Given the description of an element on the screen output the (x, y) to click on. 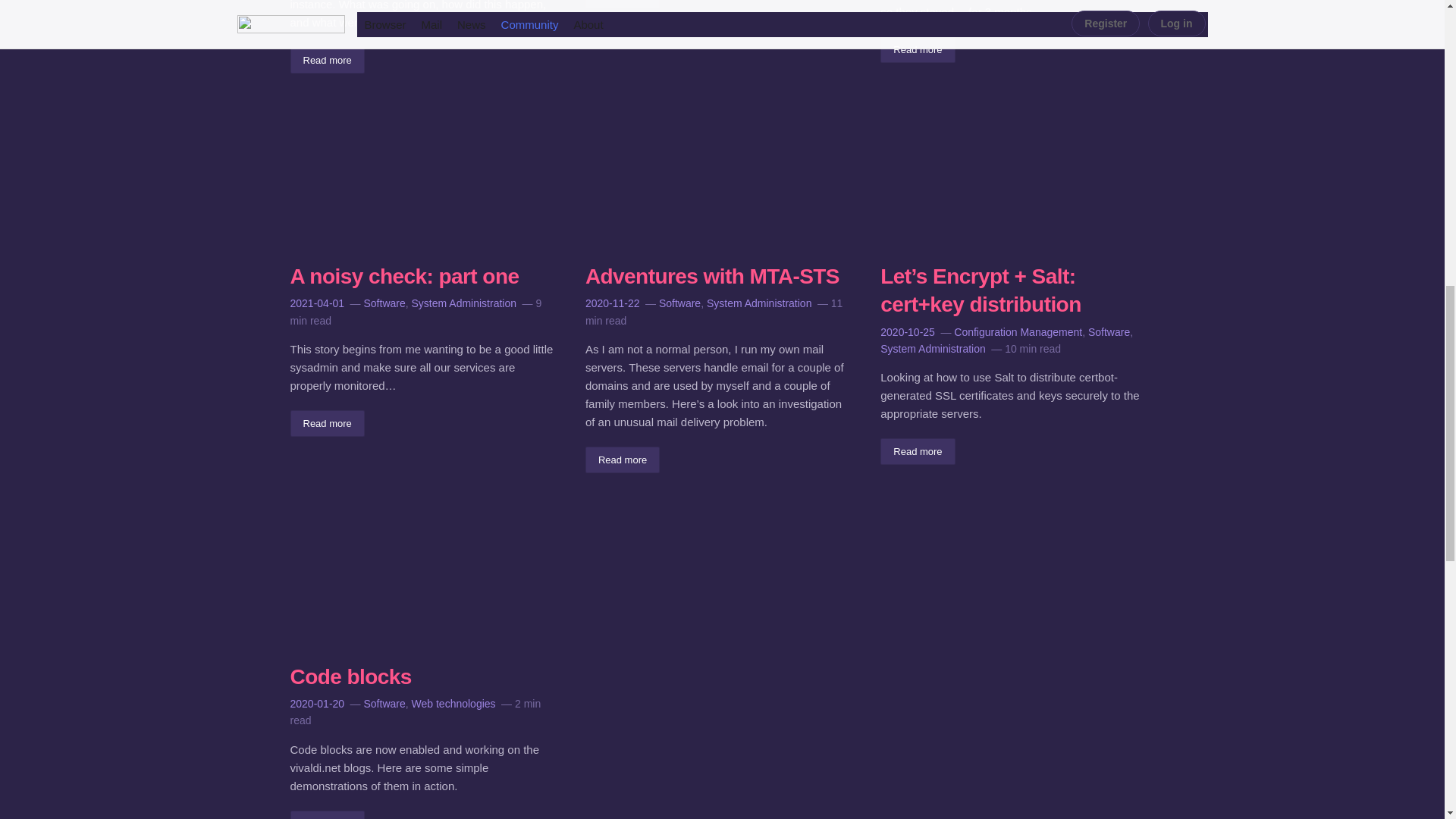
Software (679, 303)
2020-11-22 (612, 303)
Read more (917, 49)
System Administration (464, 303)
Read more (622, 4)
Read more (622, 459)
Read more (326, 59)
Software (385, 303)
System Administration (759, 303)
2021-04-01 (316, 303)
